Given the description of an element on the screen output the (x, y) to click on. 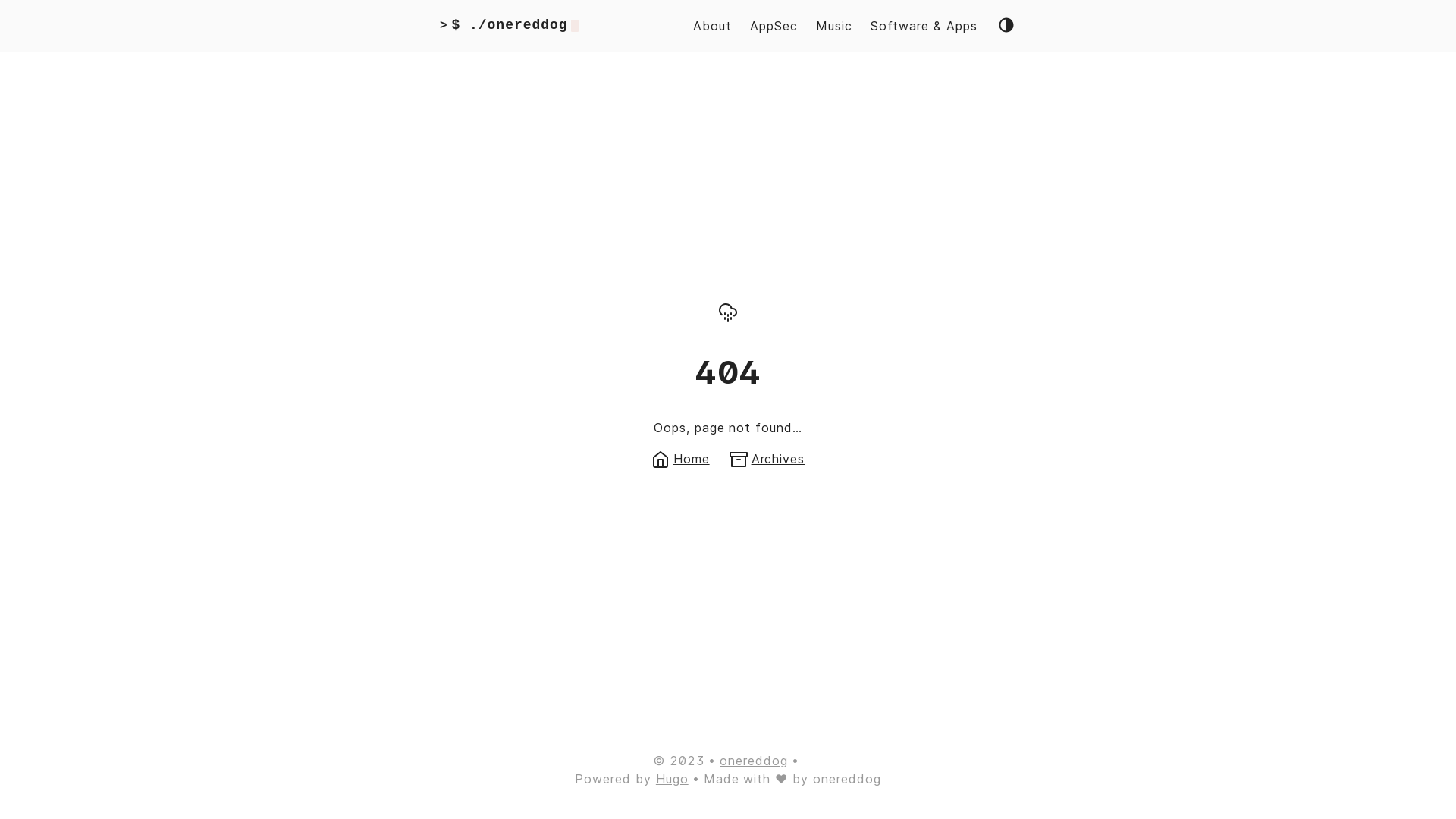
Archives Element type: text (767, 457)
Home Element type: text (680, 457)
AppSec Element type: text (773, 25)
>
$ ./onereddog Element type: text (508, 25)
Hugo Element type: text (671, 778)
onereddog Element type: text (753, 760)
Music Element type: text (833, 25)
Software & Apps Element type: text (923, 25)
About Element type: text (712, 25)
